Given the description of an element on the screen output the (x, y) to click on. 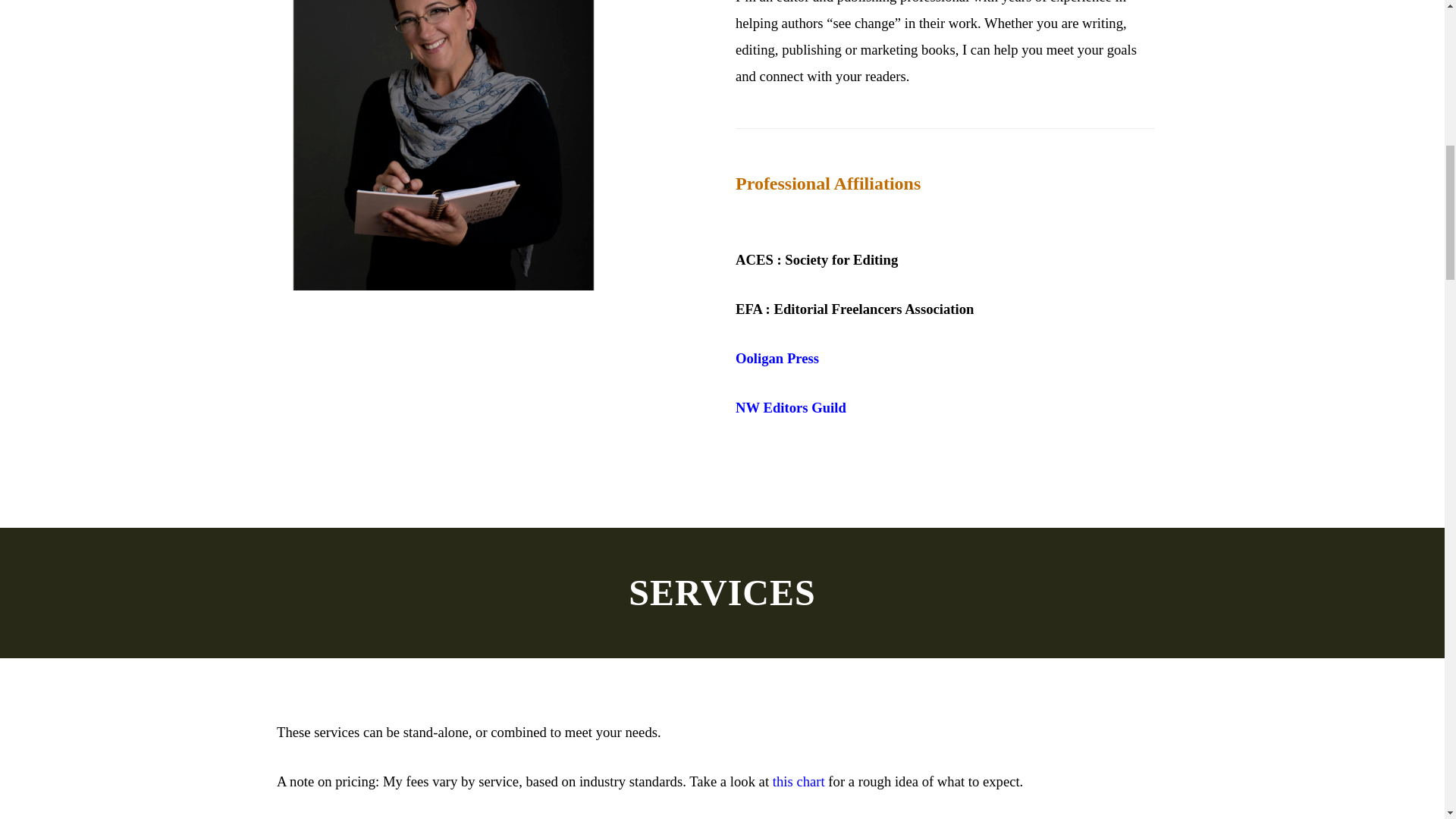
NW Editors Guild (790, 408)
this chart  (800, 781)
Back to the top (1412, 117)
Ooligan Press (776, 358)
